Given the description of an element on the screen output the (x, y) to click on. 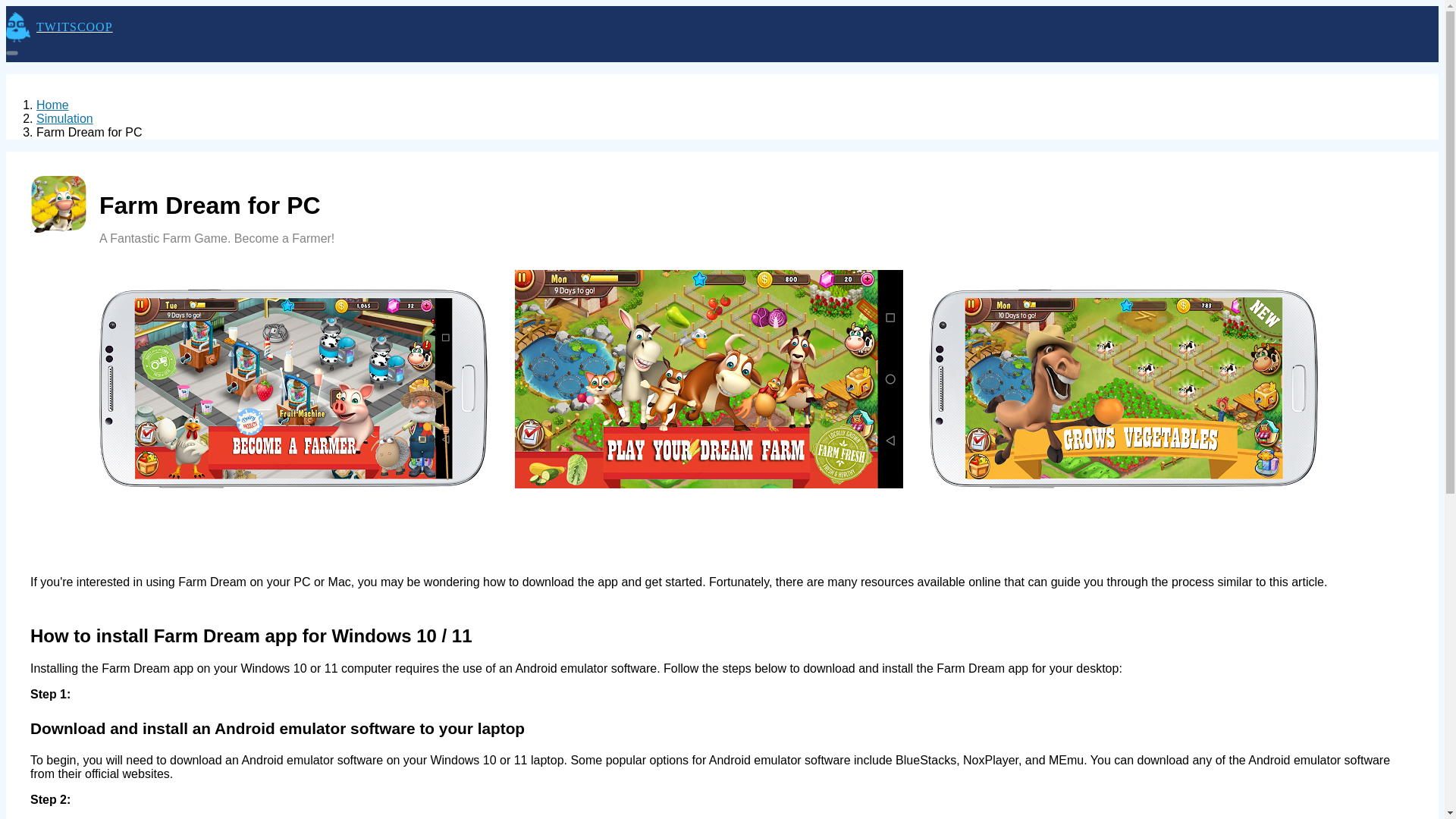
Home (52, 104)
Farm Dream pc screenshot 1 (708, 379)
Farm Dream (58, 204)
Farm Dream pc screenshot 1 (293, 388)
Simulation (64, 118)
Farm Dream pc screenshot 1 (1123, 388)
